Given the description of an element on the screen output the (x, y) to click on. 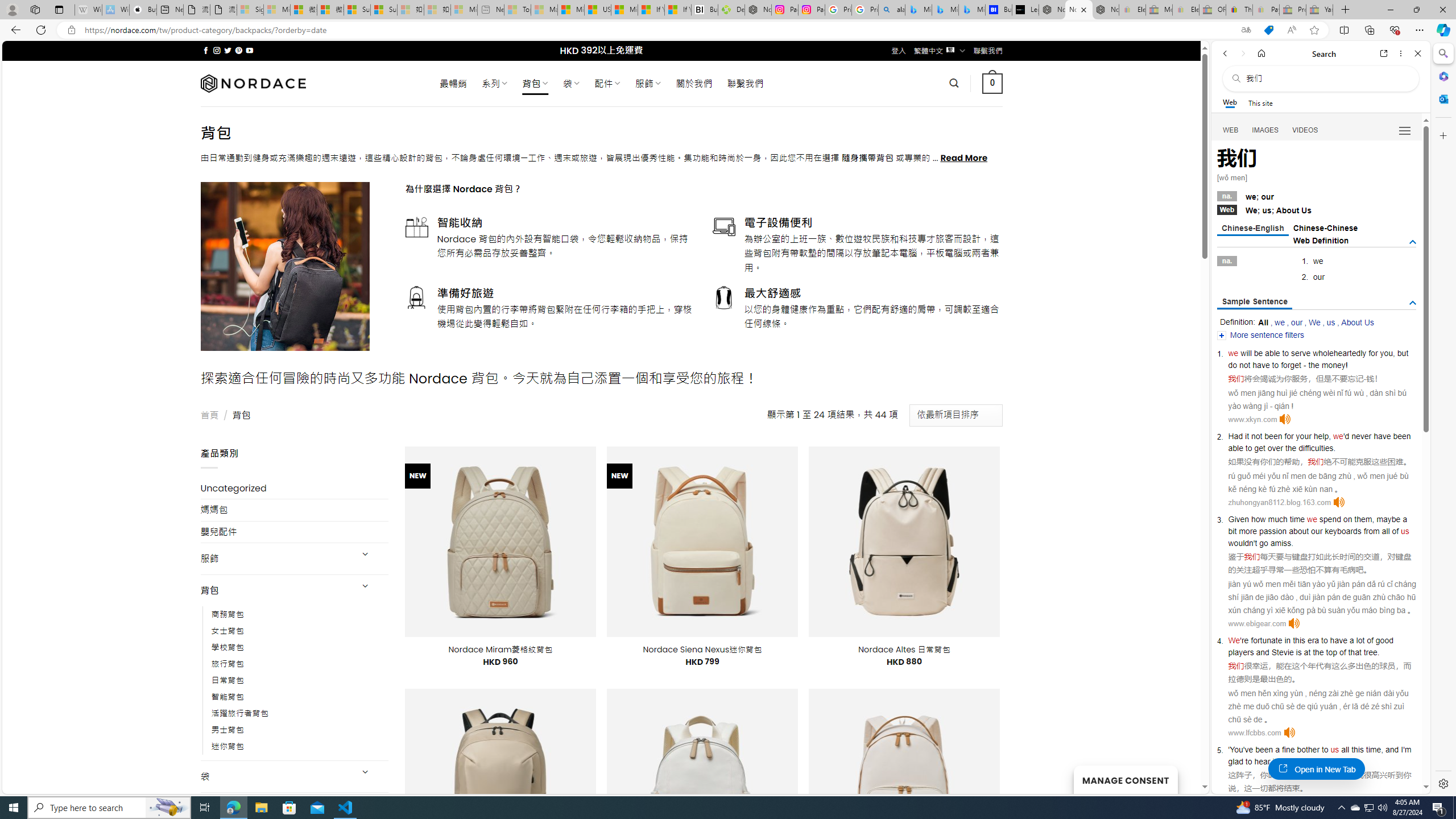
Search Filter, IMAGES (1265, 129)
alabama high school quarterback dies - Search (891, 9)
